Given the description of an element on the screen output the (x, y) to click on. 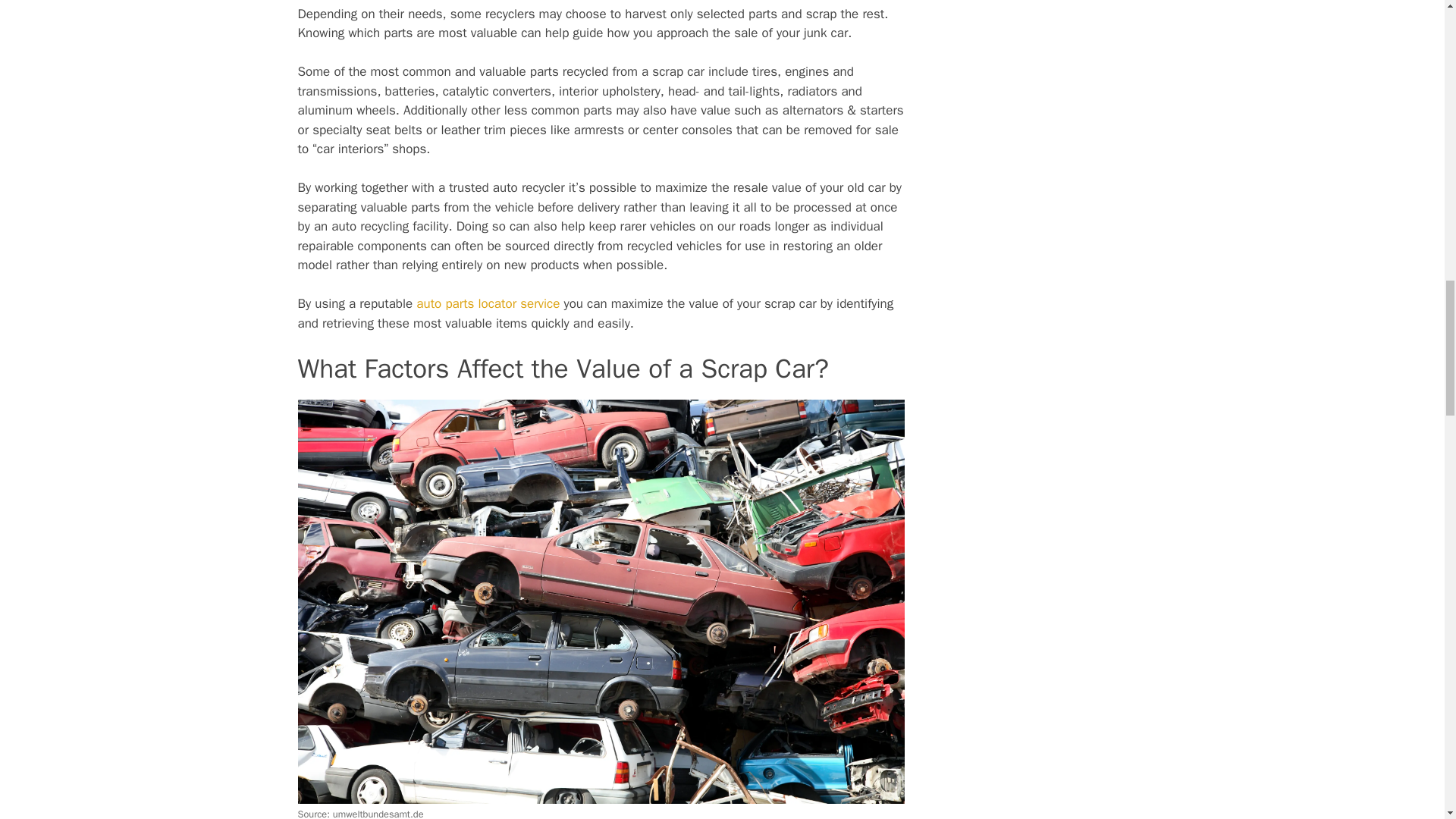
auto parts locator service (487, 303)
